Given the description of an element on the screen output the (x, y) to click on. 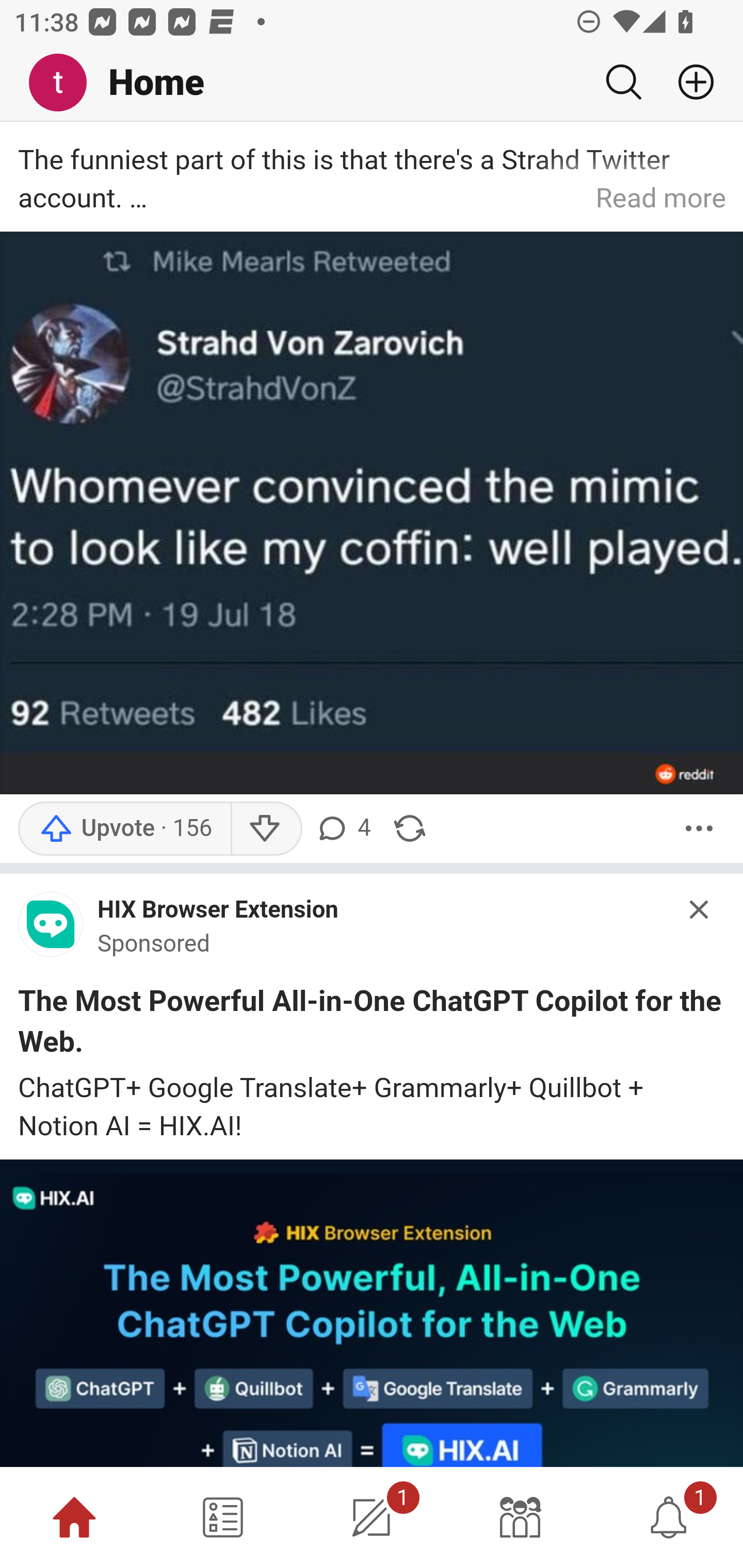
Me (64, 83)
Search (623, 82)
Add (688, 82)
Upvote (124, 828)
Downvote (266, 828)
4 comments (346, 828)
Share (409, 828)
More (699, 828)
Hide (699, 909)
main-qimg-a26aff9df7f072be8b0645a7a8a9dc4b (50, 928)
HIX Browser Extension (218, 910)
Sponsored (154, 943)
1 (371, 1517)
1 (668, 1517)
